Given the description of an element on the screen output the (x, y) to click on. 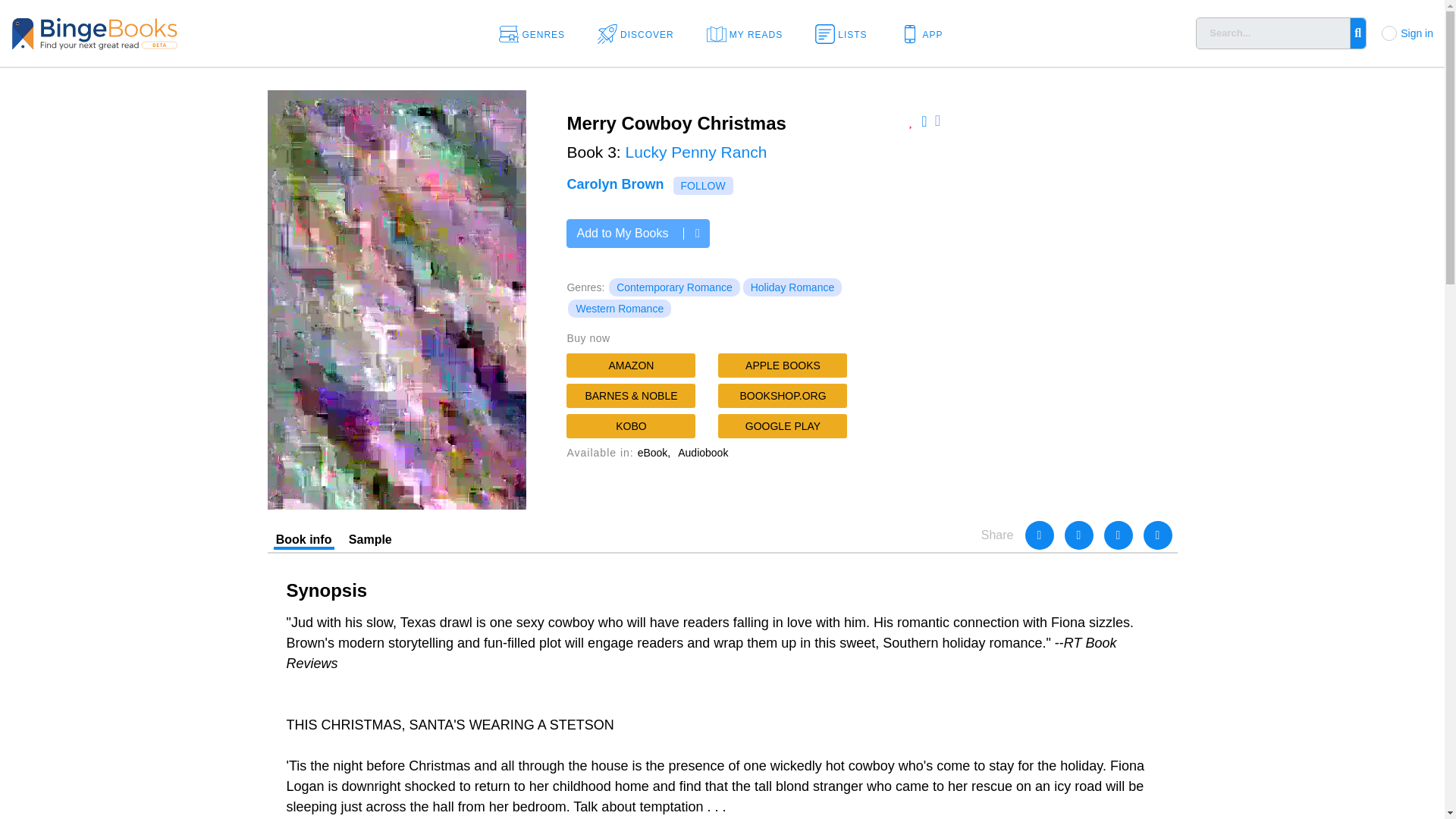
FOLLOW (702, 185)
APPLE BOOKS (782, 364)
Add to My Books (637, 233)
Holiday Romance (792, 287)
DISCOVER (640, 33)
Lucky Penny Ranch (696, 151)
MY READS (749, 33)
My reads (749, 33)
GENRES (537, 33)
Western Romance (619, 308)
Carolyn Brown (614, 183)
Discover (640, 33)
Sign in (1416, 33)
AMAZON (630, 364)
LISTS (845, 33)
